Given the description of an element on the screen output the (x, y) to click on. 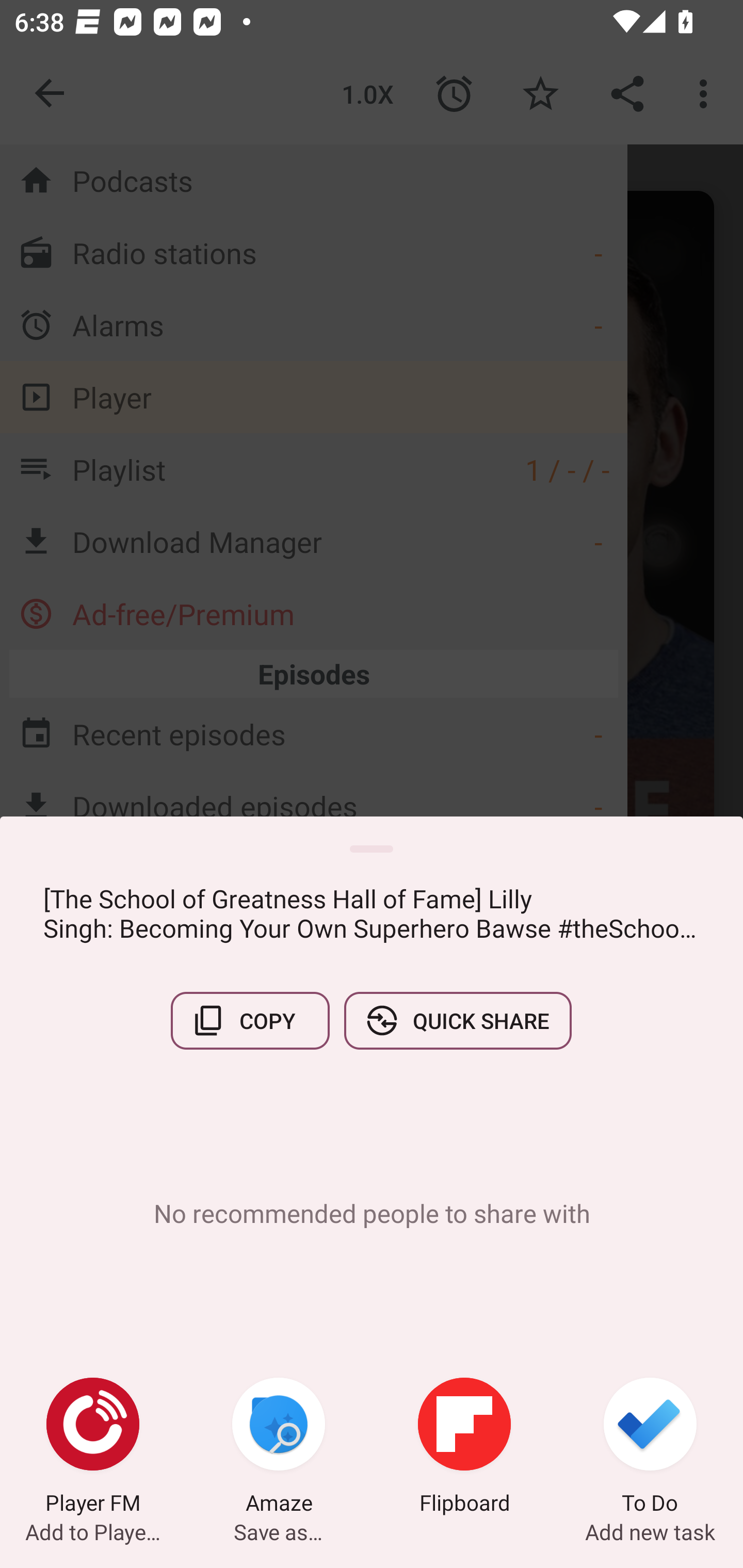
COPY (249, 1020)
QUICK SHARE (457, 1020)
Player FM Add to Player FM (92, 1448)
Amaze Save as… (278, 1448)
Flipboard (464, 1448)
To Do Add new task (650, 1448)
